Given the description of an element on the screen output the (x, y) to click on. 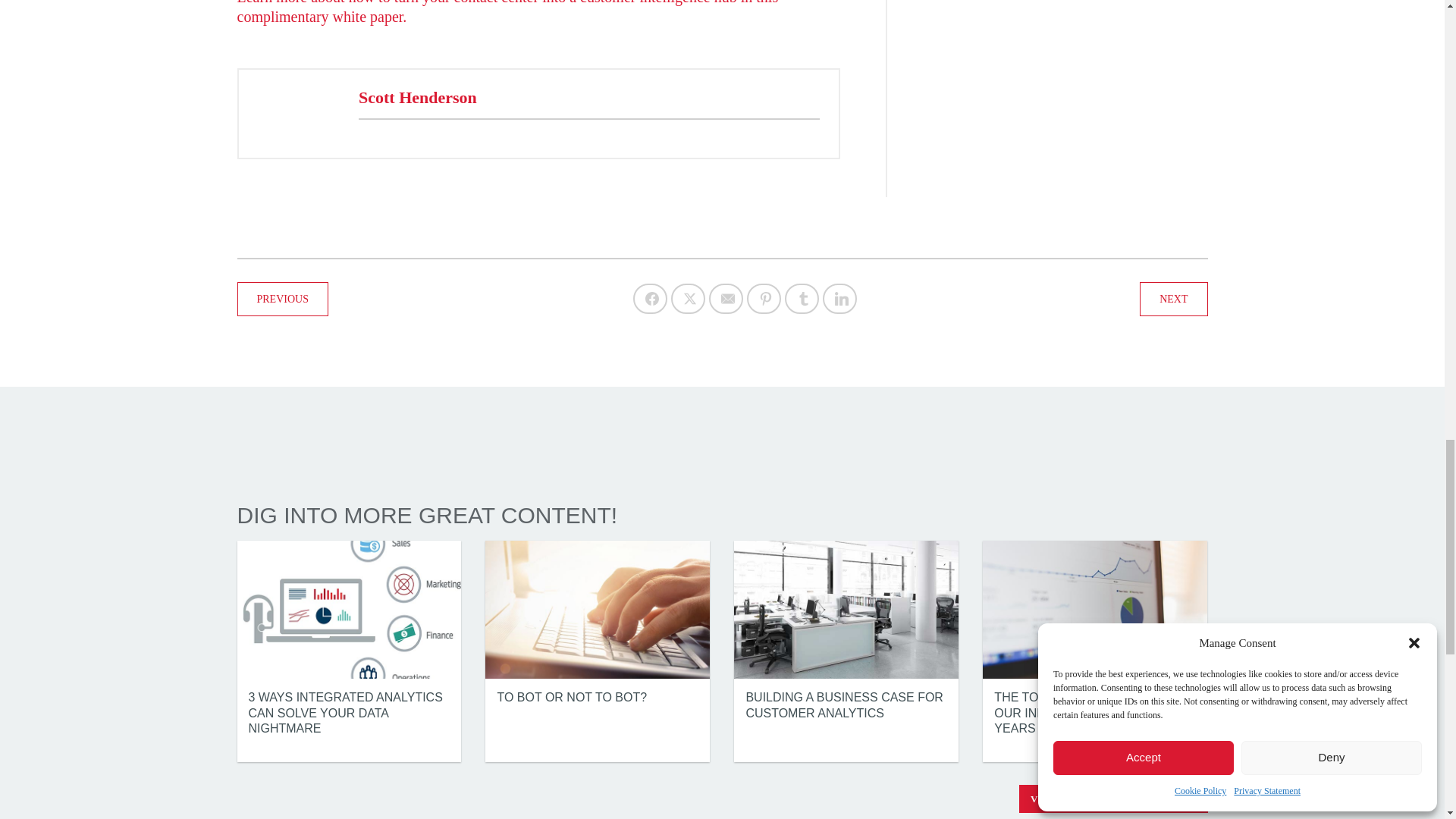
Share on LinkedIn (839, 298)
Share on Facebook (649, 298)
Share on Twitter (687, 298)
Share on Tumblr (801, 298)
Share on Email (725, 298)
Share on Pinterest (763, 298)
